Given the description of an element on the screen output the (x, y) to click on. 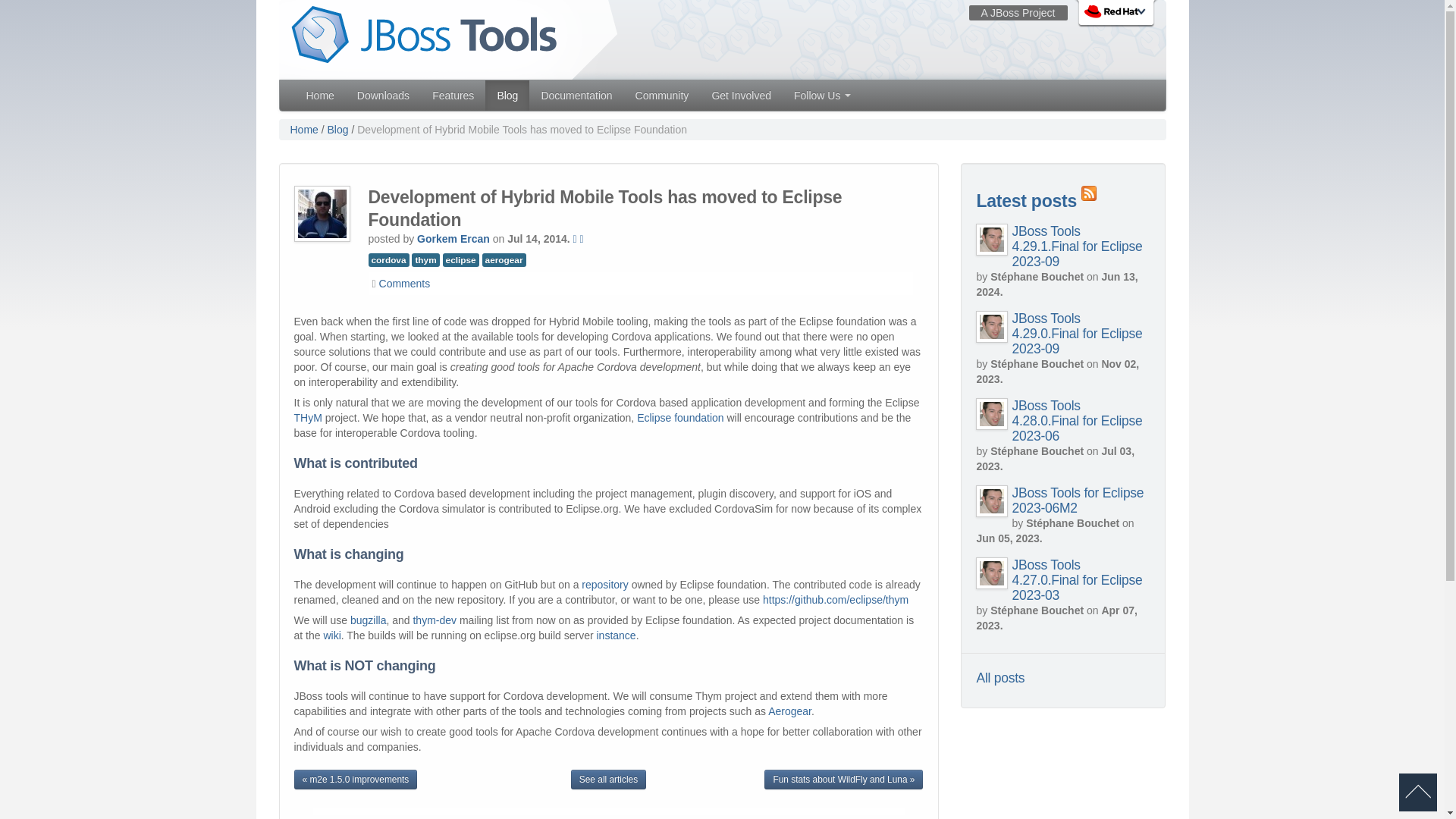
thym (425, 259)
Blog (506, 95)
Follow Us (822, 95)
repository (603, 584)
See all articles (608, 779)
aerogear (503, 259)
Community (662, 95)
eclipse (460, 259)
bugzilla (367, 620)
